Given the description of an element on the screen output the (x, y) to click on. 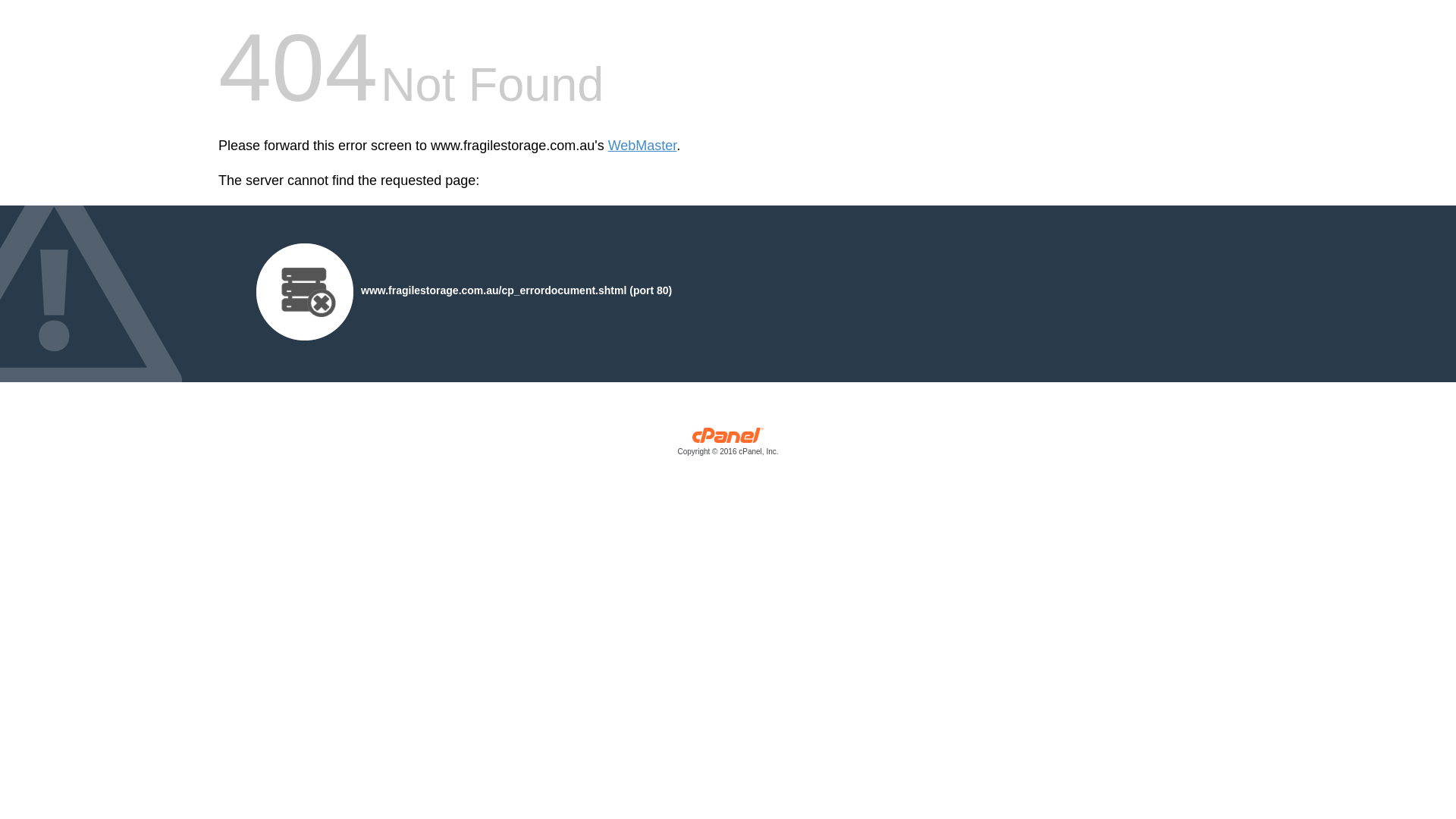
WebMaster Element type: text (642, 145)
